Given the description of an element on the screen output the (x, y) to click on. 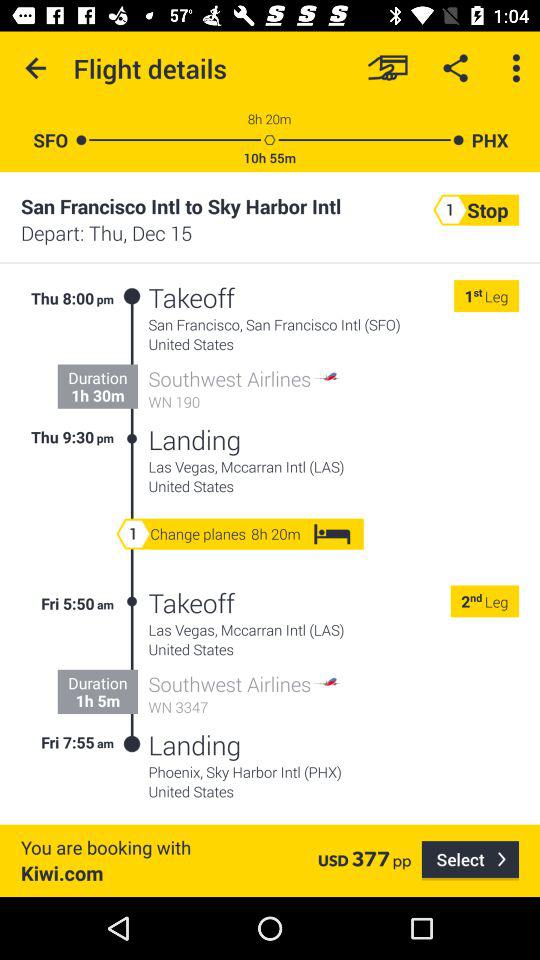
enter card details (387, 67)
